Given the description of an element on the screen output the (x, y) to click on. 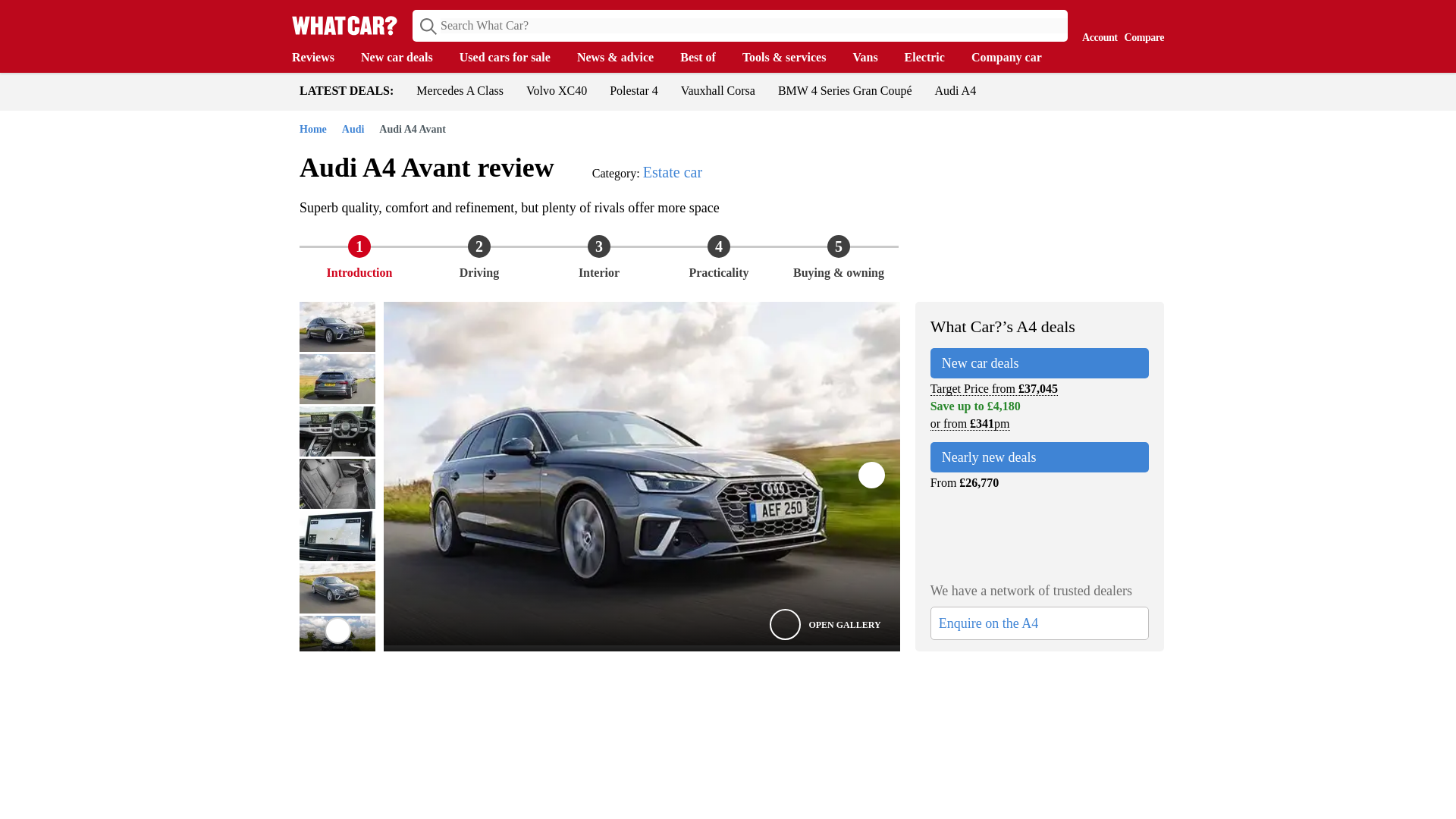
WhatCar? logo (344, 25)
Used cars for sale (513, 57)
Vans (871, 57)
New car deals (404, 57)
Compare (1140, 24)
Electric (931, 57)
Best of (704, 57)
Company car (1014, 57)
Reviews (320, 57)
Account (1095, 24)
